Given the description of an element on the screen output the (x, y) to click on. 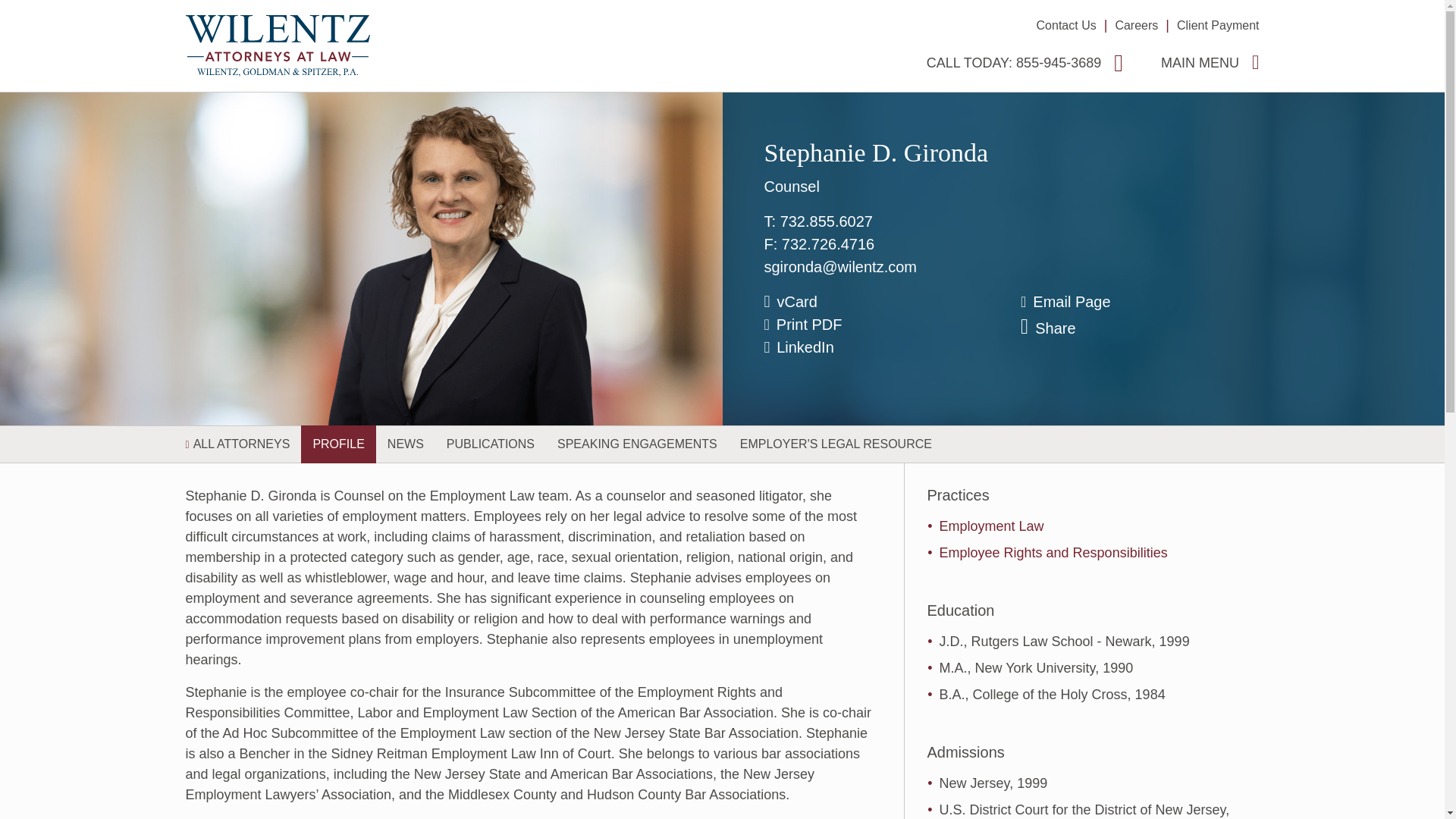
Contact Us (1066, 24)
Email Page (1139, 301)
MAIN MENU (1209, 62)
linkedin (883, 346)
CALL TODAY: 855-945-3689 (1024, 62)
Careers (1136, 24)
PDF Print (883, 323)
Client Payment (1217, 24)
732.855.6027 (826, 221)
Email (1139, 301)
Print PDF (883, 323)
PROFILE (338, 443)
ALL ATTORNEYS (242, 443)
Share Options (1139, 327)
Share (1139, 327)
